Given the description of an element on the screen output the (x, y) to click on. 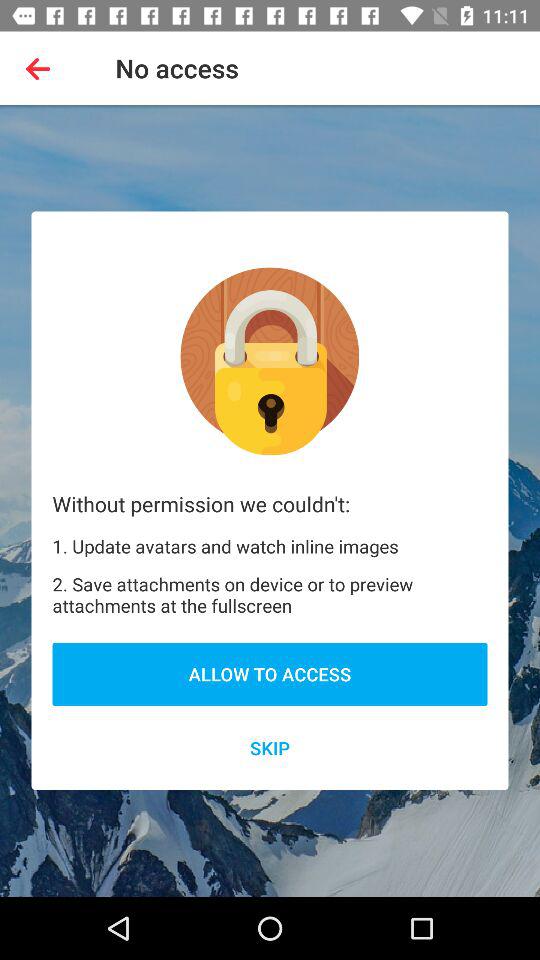
jump to allow to access icon (269, 673)
